Given the description of an element on the screen output the (x, y) to click on. 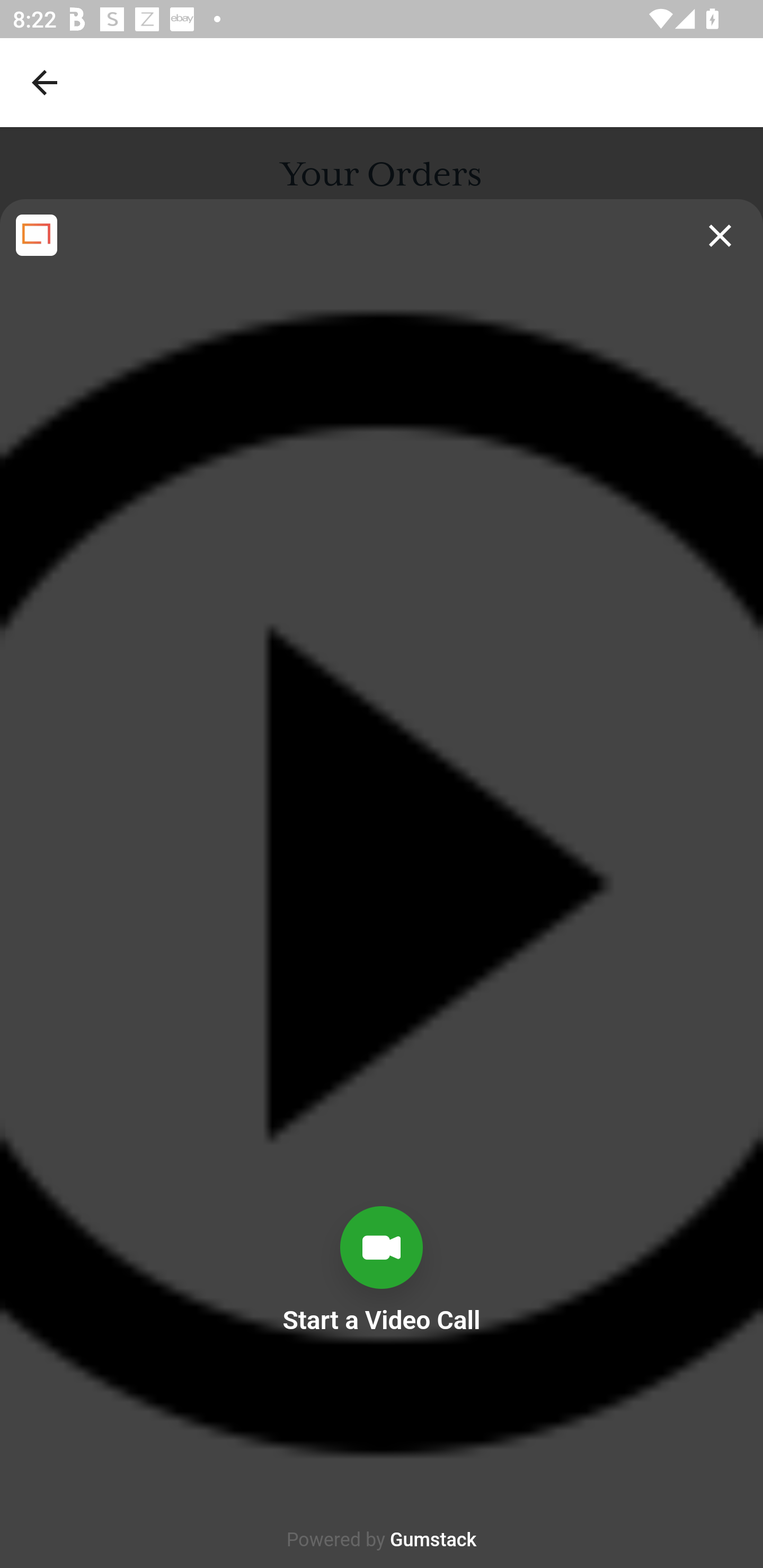
Navigate up (44, 82)
clear (720, 235)
 Start a Video Call (381, 1386)
Gumstack (432, 1540)
